Given the description of an element on the screen output the (x, y) to click on. 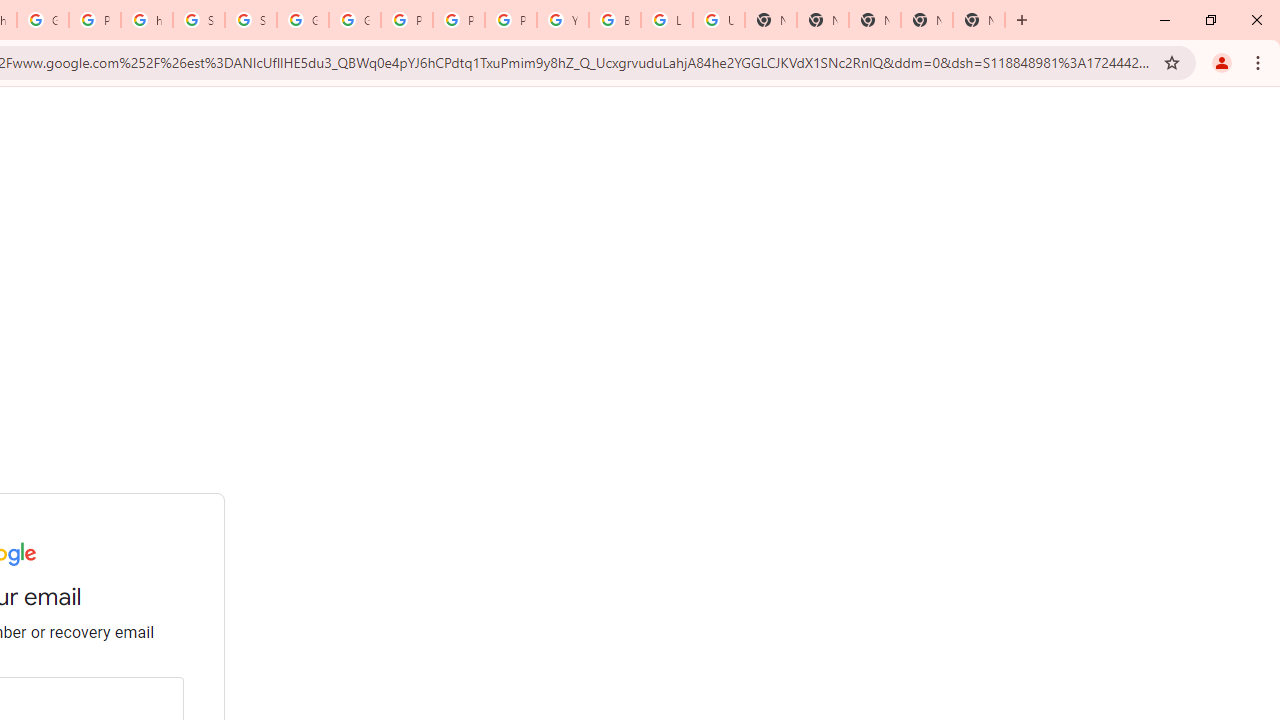
New Tab (822, 20)
Privacy Help Center - Policies Help (406, 20)
New Tab (978, 20)
Sign in - Google Accounts (250, 20)
Sign in - Google Accounts (198, 20)
Privacy Help Center - Policies Help (458, 20)
